Given the description of an element on the screen output the (x, y) to click on. 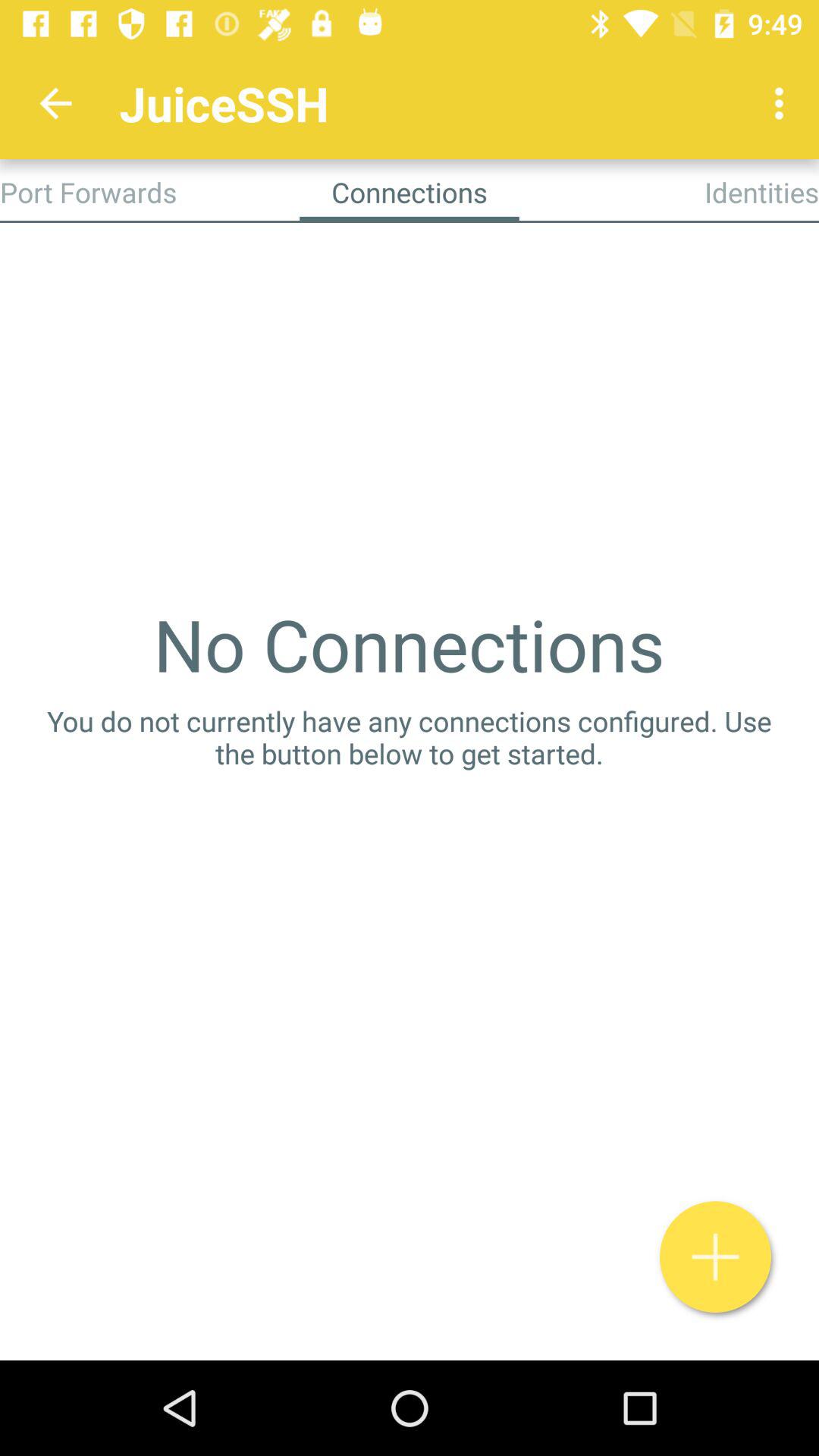
add connections (715, 1256)
